Given the description of an element on the screen output the (x, y) to click on. 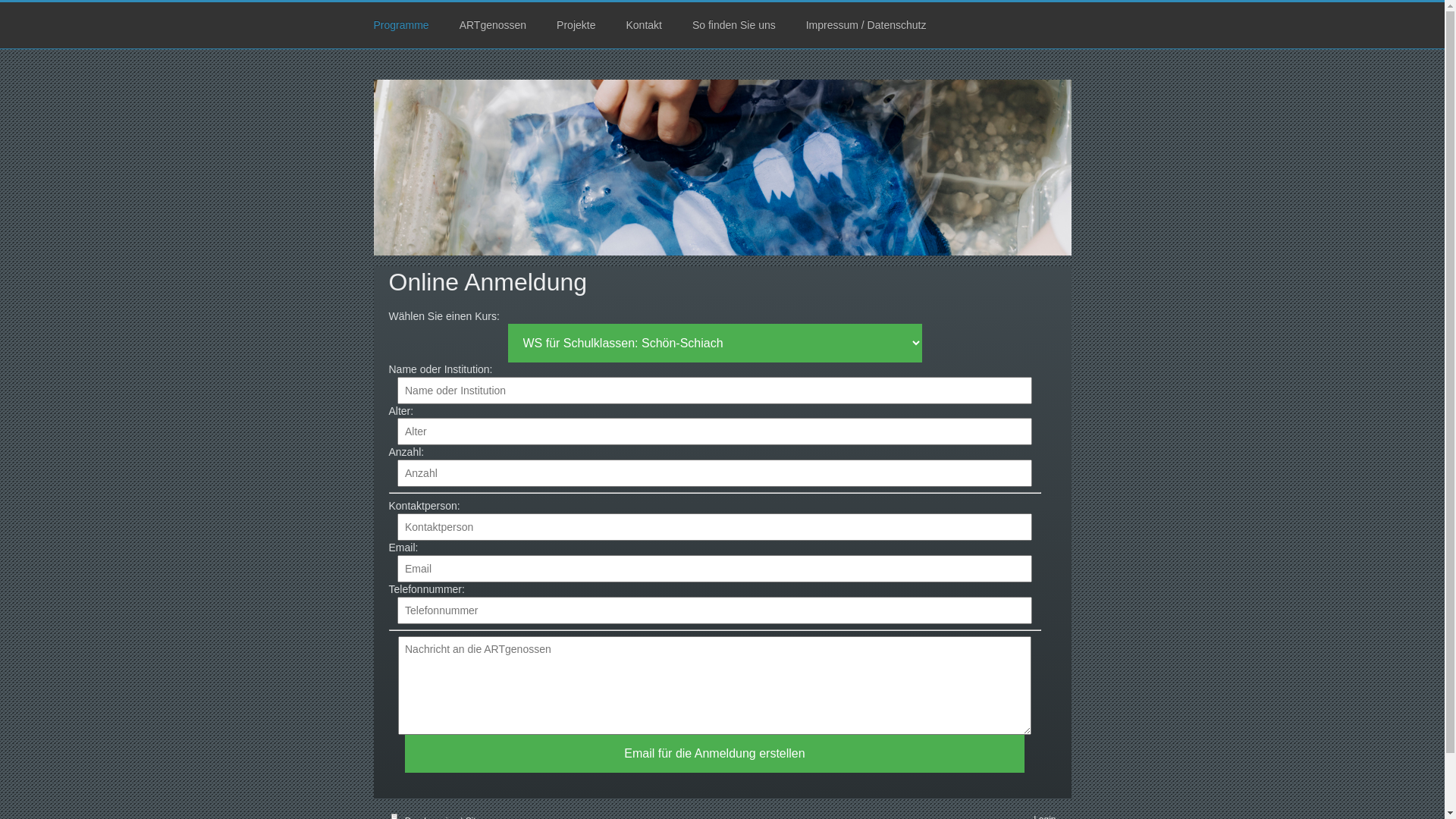
ARTgenossen Element type: text (492, 24)
Impressum / Datenschutz Element type: text (865, 24)
Programme Element type: text (400, 24)
Projekte Element type: text (575, 24)
So finden Sie uns Element type: text (733, 24)
Kontakt Element type: text (643, 24)
